Given the description of an element on the screen output the (x, y) to click on. 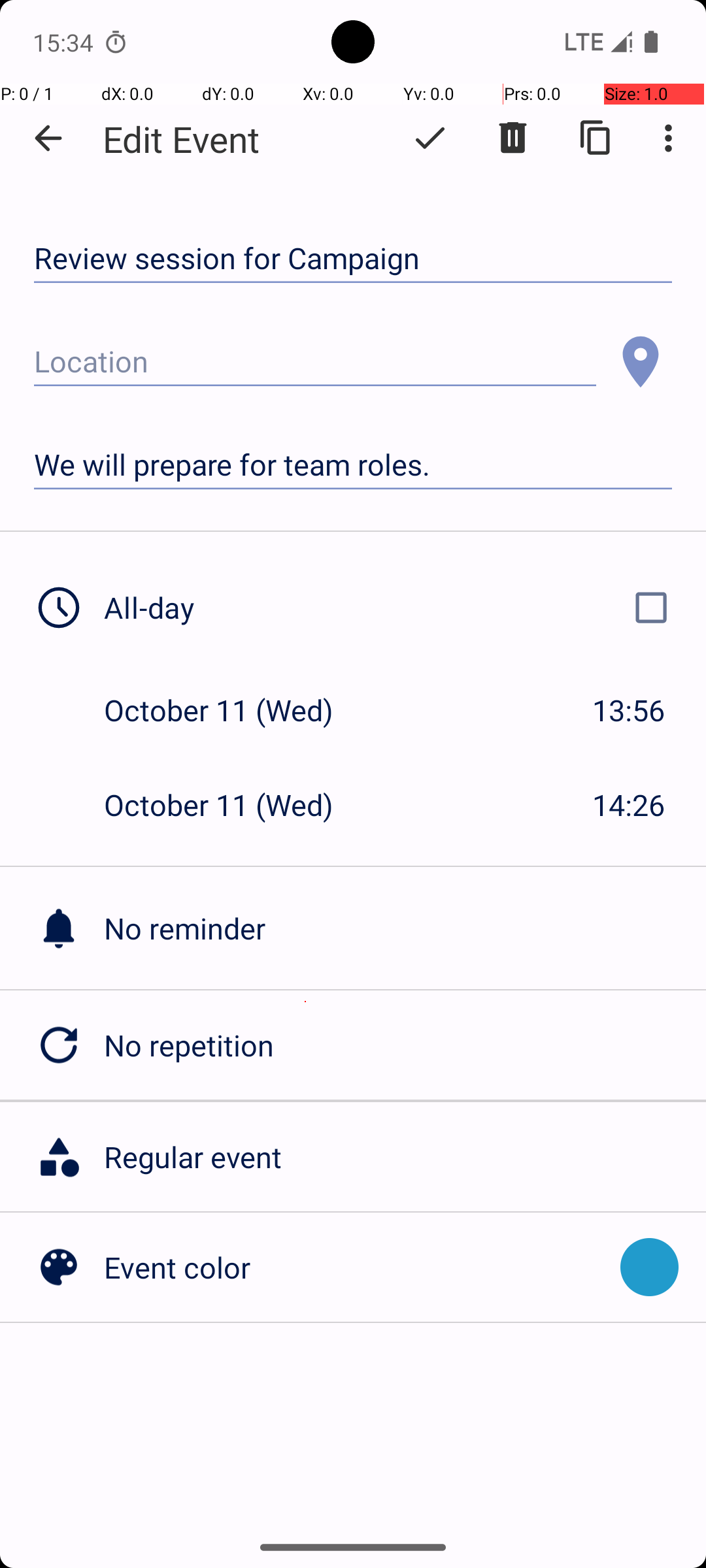
We will prepare for team roles. Element type: android.widget.EditText (352, 465)
October 11 (Wed) Element type: android.widget.TextView (232, 709)
13:56 Element type: android.widget.TextView (628, 709)
14:26 Element type: android.widget.TextView (628, 804)
